Given the description of an element on the screen output the (x, y) to click on. 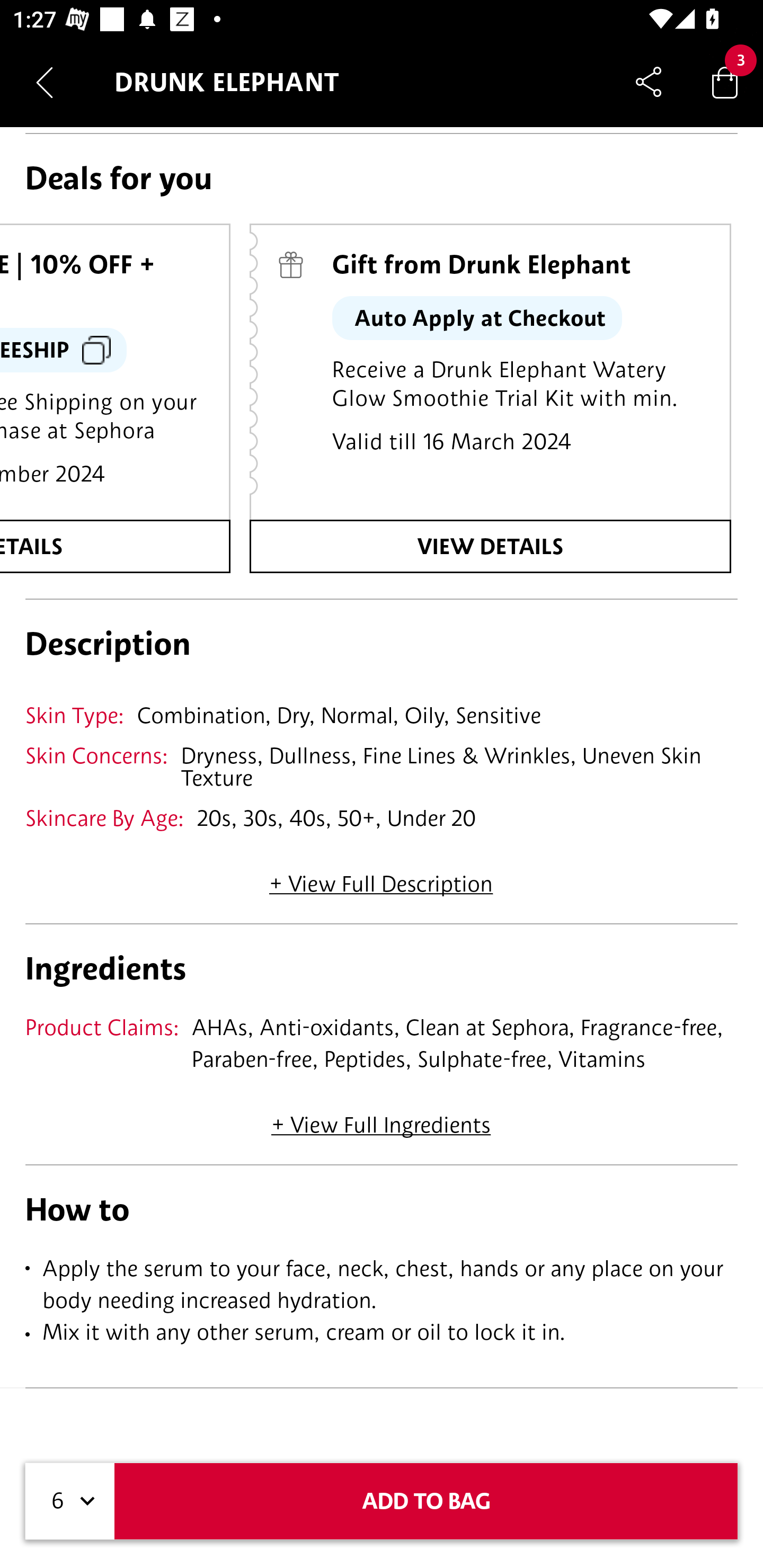
Navigate up (44, 82)
Share (648, 81)
Bag (724, 81)
VIEW DETAILS (489, 546)
+ View Full Description (380, 877)
+ View Full Ingredients (380, 1118)
6 (69, 1500)
ADD TO BAG (425, 1500)
